Given the description of an element on the screen output the (x, y) to click on. 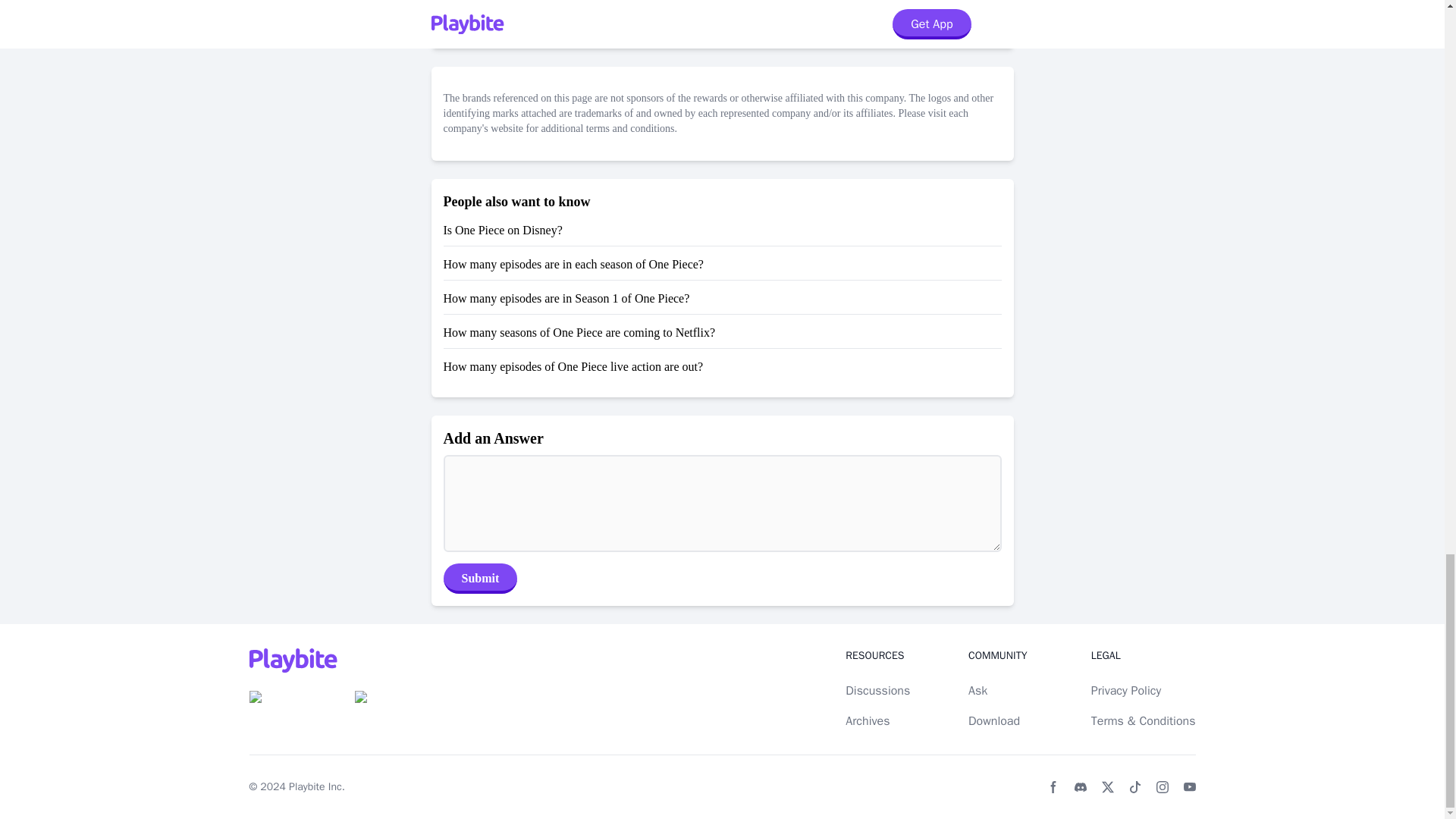
Discord community (1080, 787)
Privacy Policy (1125, 690)
Discussions (877, 690)
How many episodes are in each season of One Piece? (572, 264)
Youtube page (1188, 787)
Twitter page (1106, 787)
Facebook page (1052, 787)
Download (994, 720)
How many episodes are in Season 1 of One Piece? (565, 297)
How many seasons of One Piece are coming to Netflix? (578, 332)
